Given the description of an element on the screen output the (x, y) to click on. 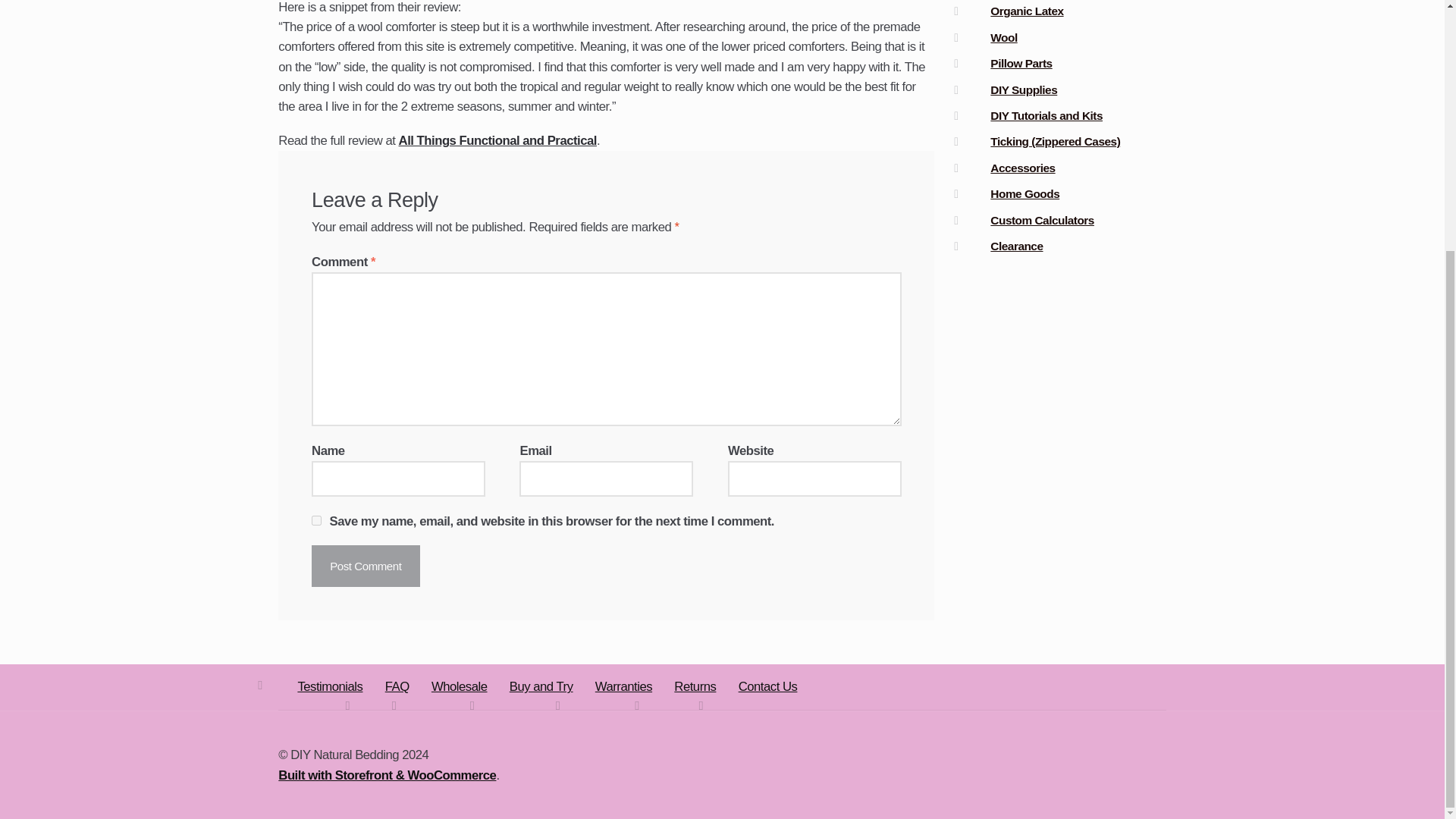
WooCommerce - The Best eCommerce Platform for WordPress (387, 775)
Post Comment (365, 566)
yes (316, 520)
